Given the description of an element on the screen output the (x, y) to click on. 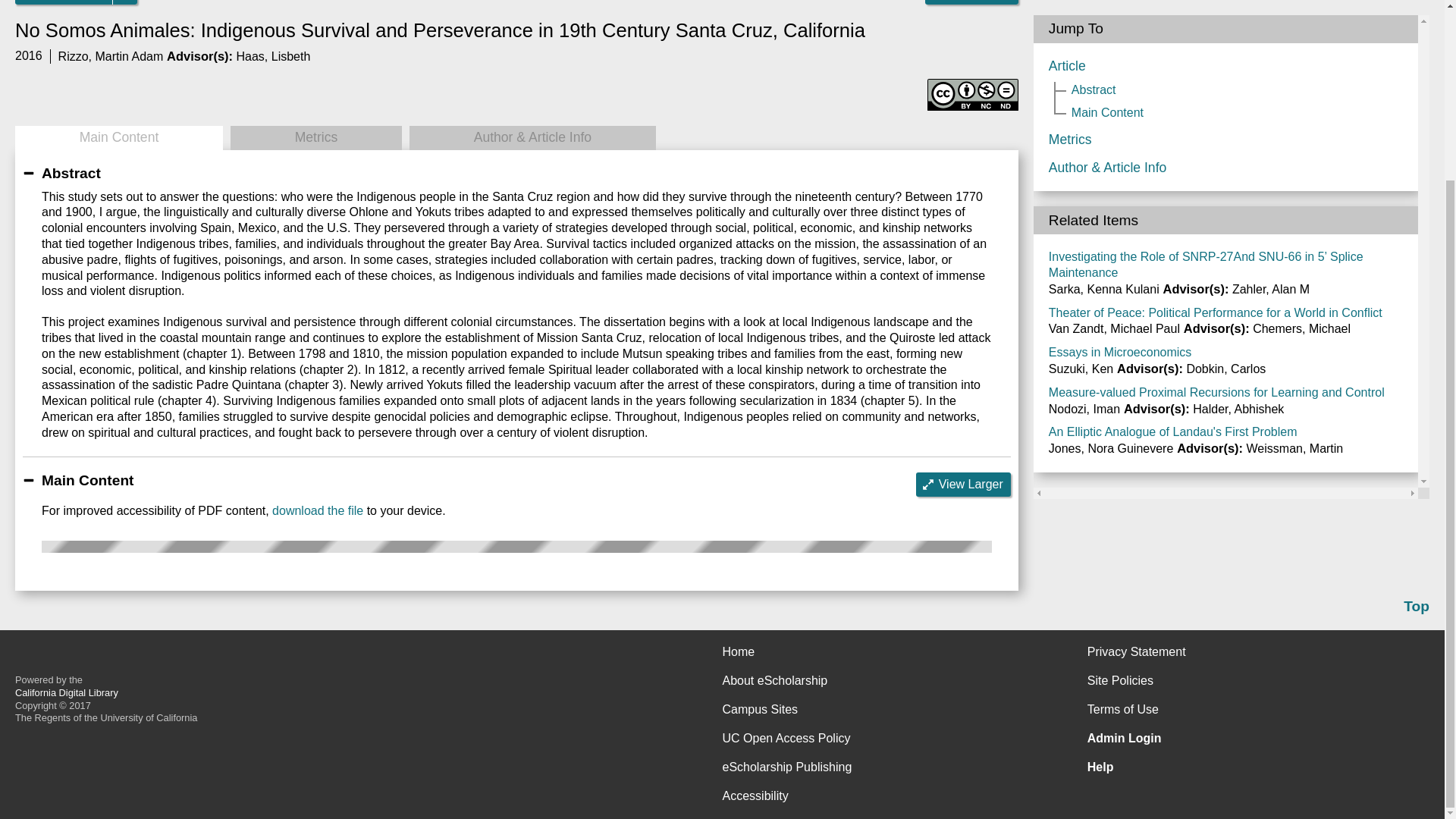
Metrics (315, 137)
View Larger (962, 484)
Rizzo, Martin Adam (110, 56)
Haas, Lisbeth (273, 56)
download the file (317, 510)
Main Content (118, 137)
Download PDF (63, 2)
